Given the description of an element on the screen output the (x, y) to click on. 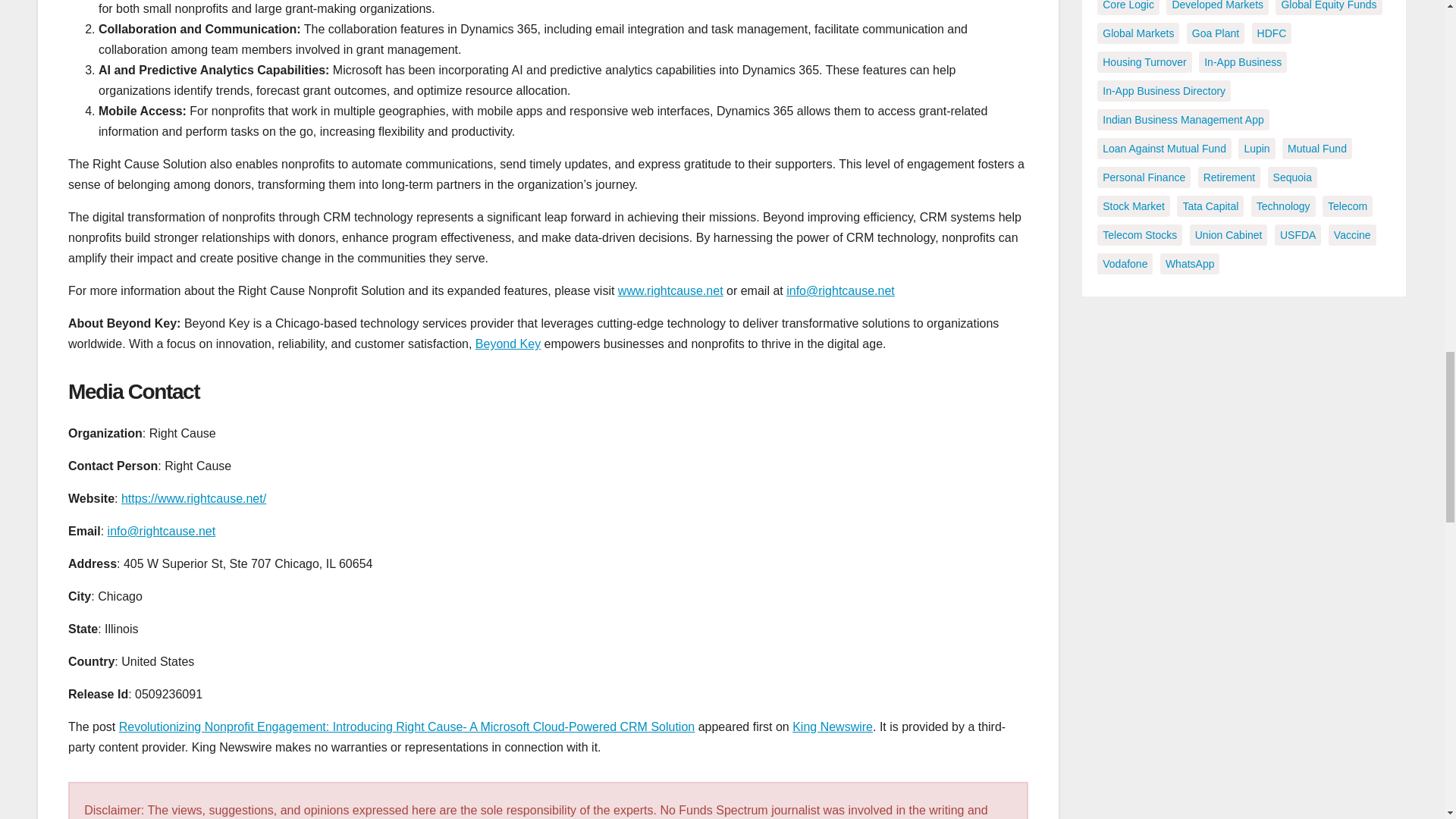
Beyond Key (508, 343)
www.rightcause.net (670, 290)
King Newswire (832, 726)
